Given the description of an element on the screen output the (x, y) to click on. 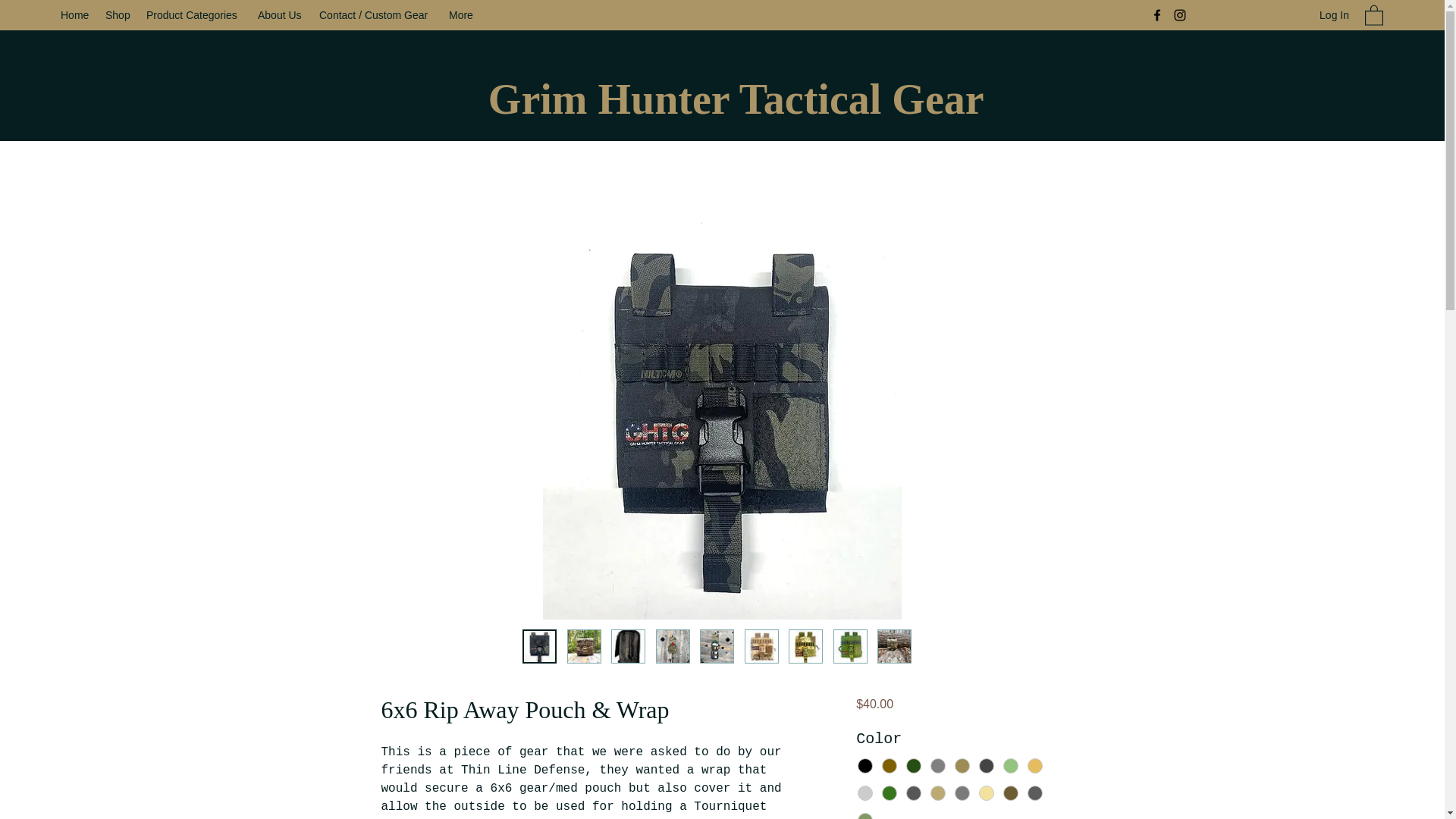
Home (74, 15)
About Us (280, 15)
Product Categories (194, 15)
Shop (117, 15)
Log In (1333, 15)
